Given the description of an element on the screen output the (x, y) to click on. 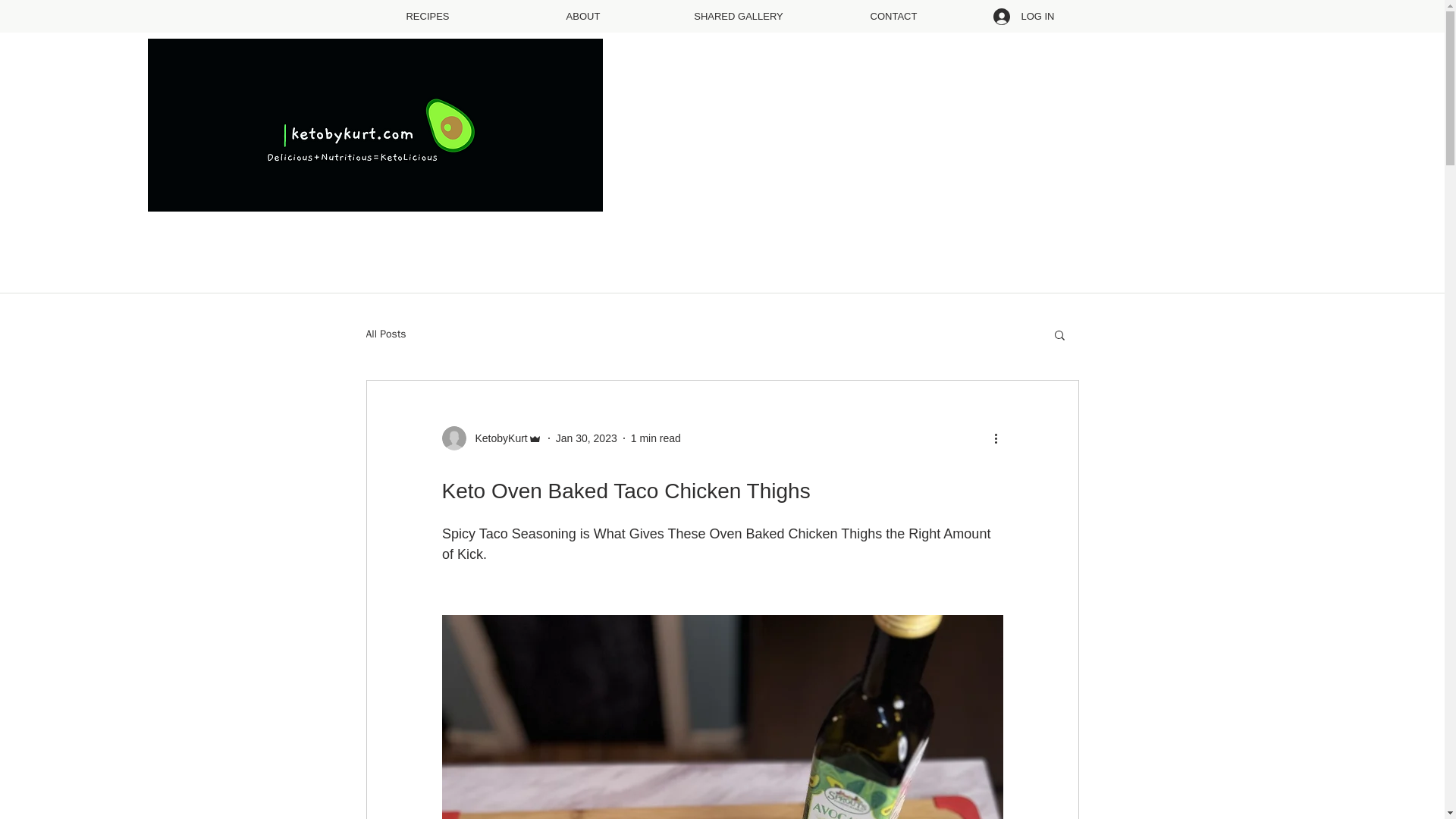
KetobyKurt (496, 438)
KetobyKurt (491, 437)
SHARED GALLERY (738, 16)
Jan 30, 2023 (586, 438)
RECIPES (427, 16)
1 min read (655, 438)
ABOUT (583, 16)
LOG IN (1023, 16)
CONTACT (893, 16)
All Posts (385, 334)
